Given the description of an element on the screen output the (x, y) to click on. 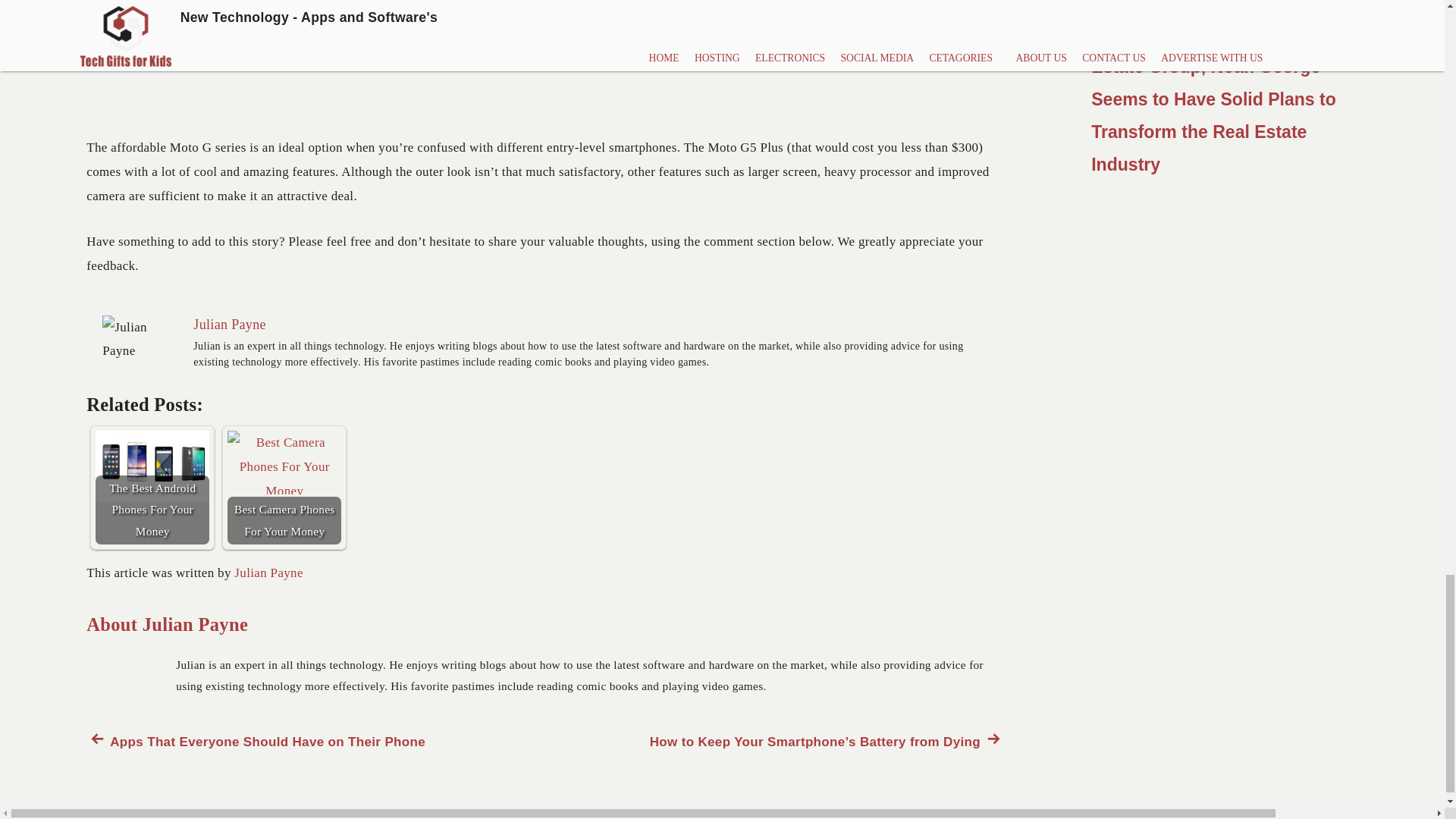
Best Camera Phones For Your Money (255, 742)
Julian Payne (283, 462)
The Best Android Phones For Your Money (139, 339)
The Best Android Phones For Your Money (152, 487)
About Julian Payne (152, 466)
Julian Payne (166, 624)
Best Camera Phones For Your Money (229, 324)
Julian Payne (283, 487)
Moto G5 Plus (268, 572)
